Given the description of an element on the screen output the (x, y) to click on. 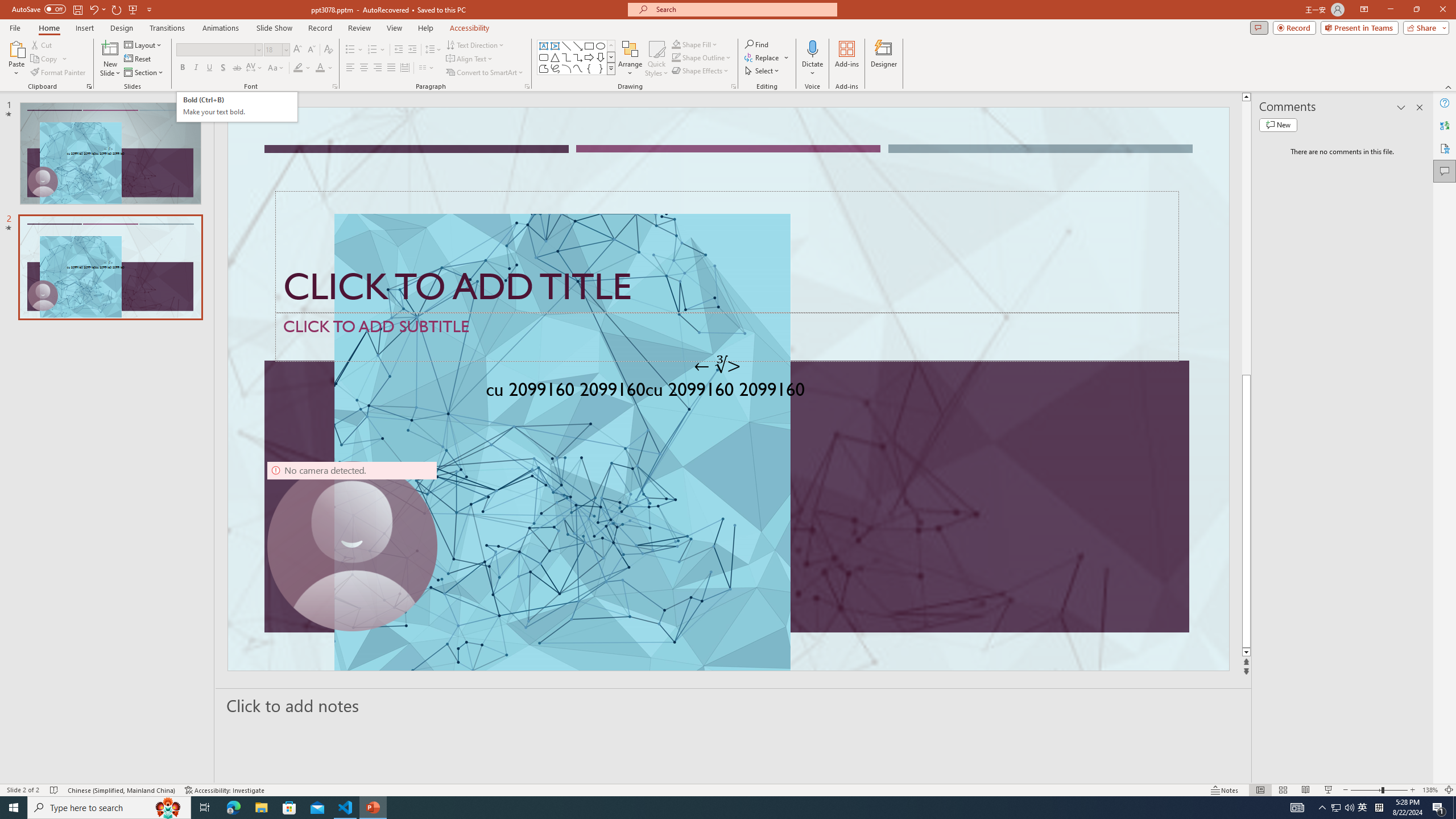
Find... (756, 44)
Convert to SmartArt (485, 72)
Row Down (611, 56)
Microsoft search (742, 9)
Arc (566, 68)
Increase Font Size (297, 49)
Right Brace (600, 68)
Accessibility Checker Accessibility: Investigate (224, 790)
Line Arrow (577, 45)
Row up (611, 45)
Line down (1245, 652)
Distributed (404, 67)
Format Painter (58, 72)
Connector: Elbow (566, 57)
Shadow (223, 67)
